Given the description of an element on the screen output the (x, y) to click on. 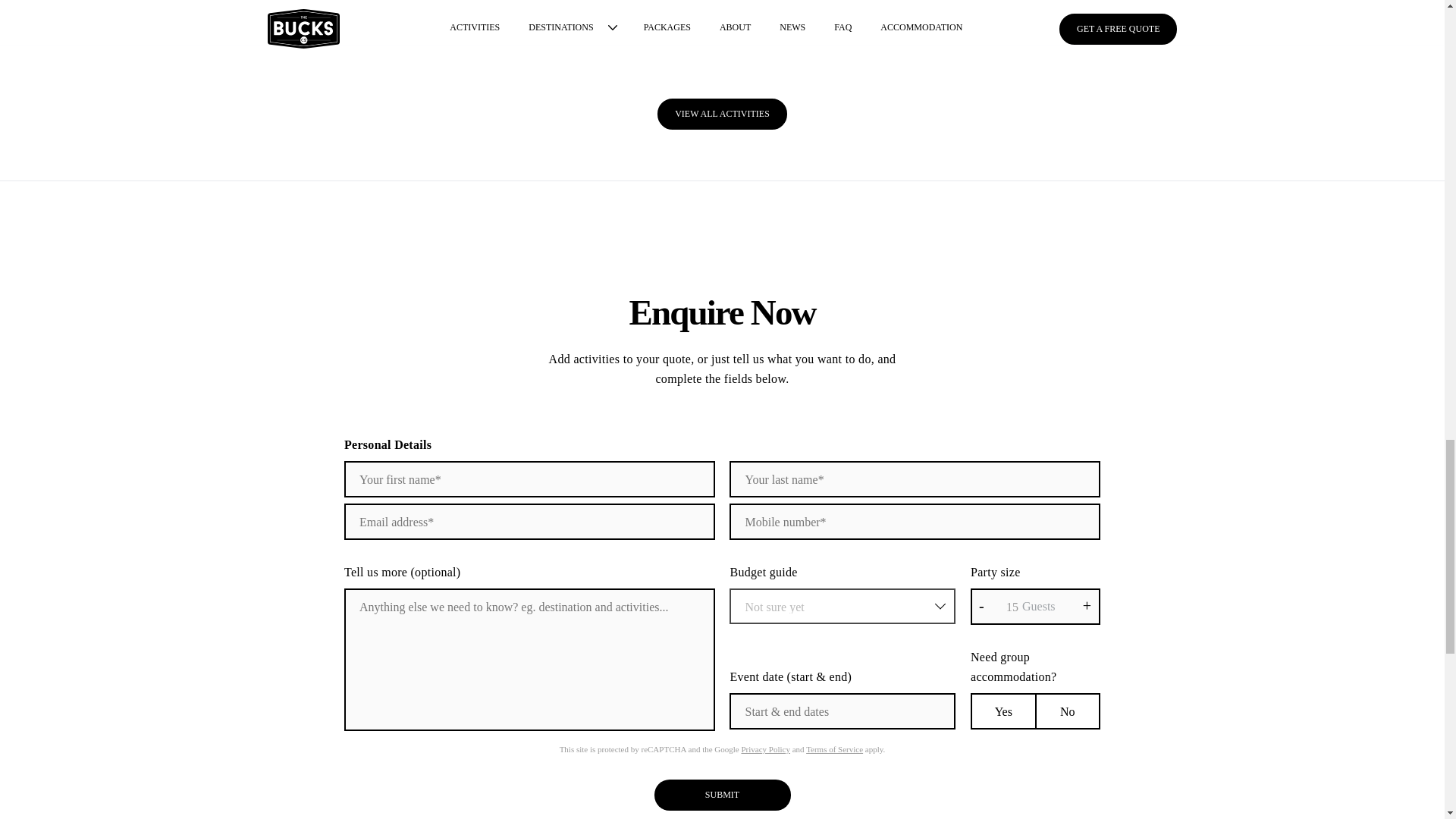
Qty (1035, 606)
15 (1035, 606)
- (981, 605)
